Given the description of an element on the screen output the (x, y) to click on. 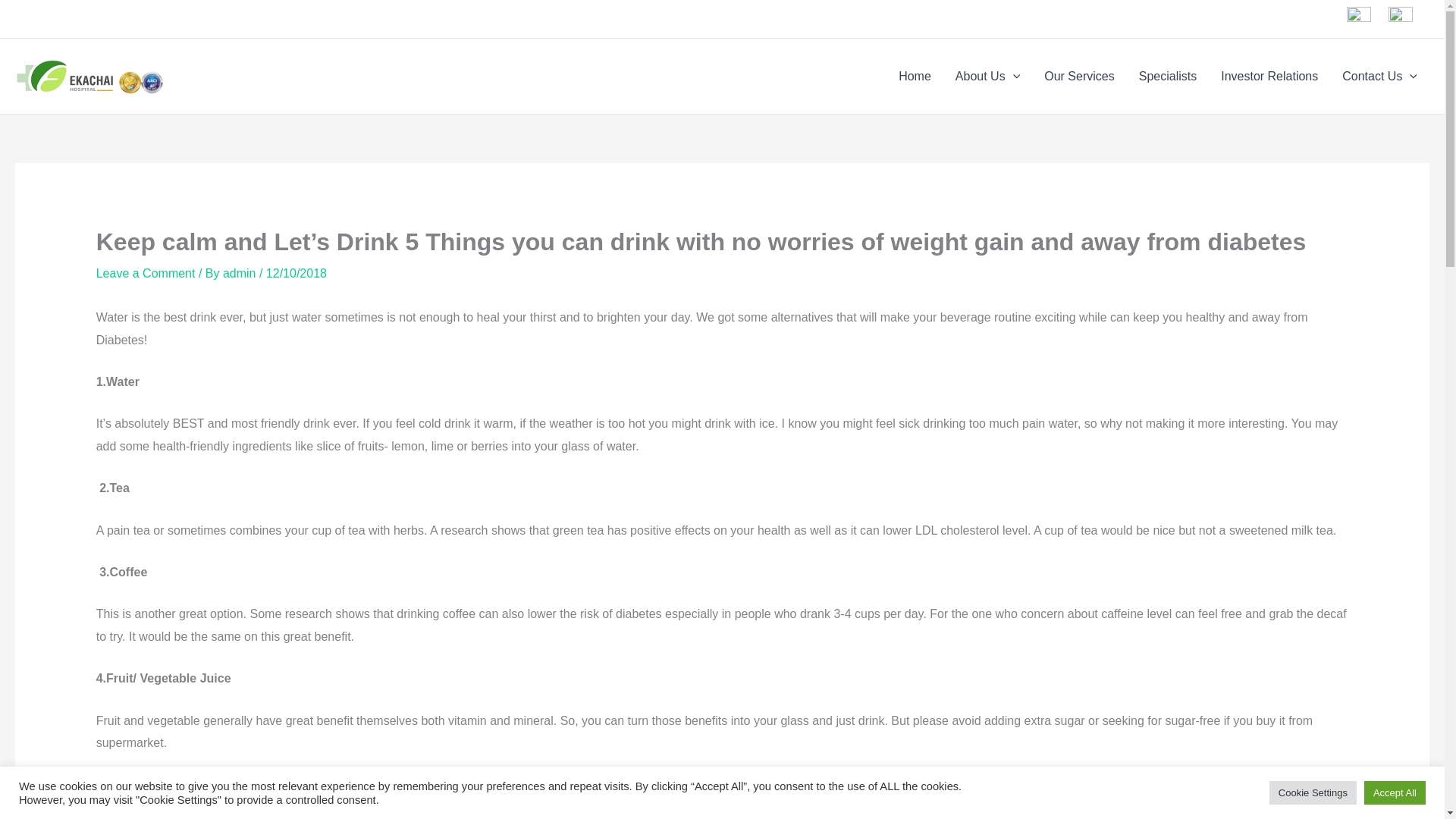
Contact Us (1379, 75)
Leave a Comment (145, 273)
admin (240, 273)
About Us (987, 75)
View all posts by admin (240, 273)
Specialists (1167, 75)
Investor Relations (1269, 75)
Home (914, 75)
Our Services (1078, 75)
